Given the description of an element on the screen output the (x, y) to click on. 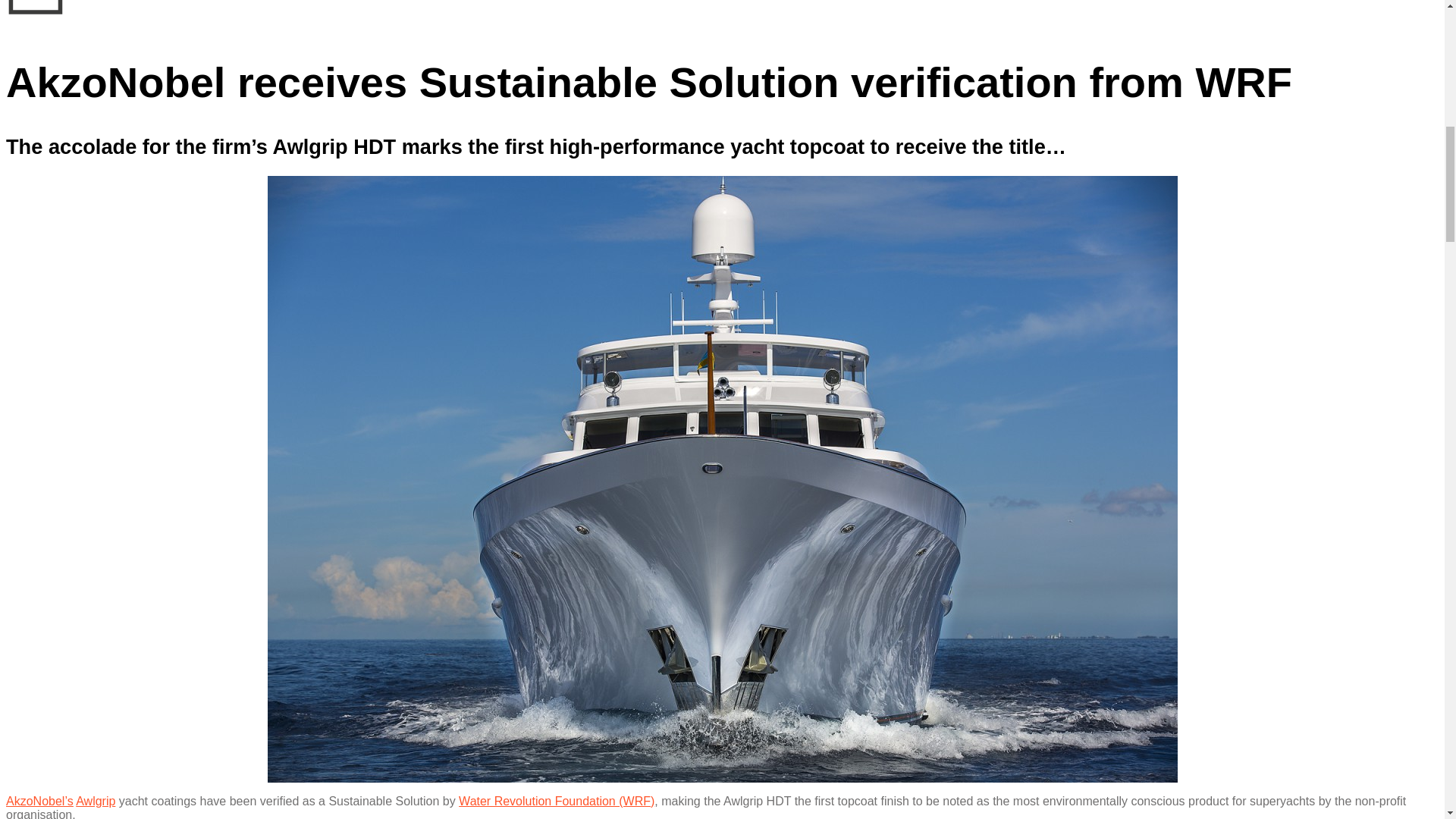
Awlgrip (95, 800)
AkzoNobel (34, 800)
